Given the description of an element on the screen output the (x, y) to click on. 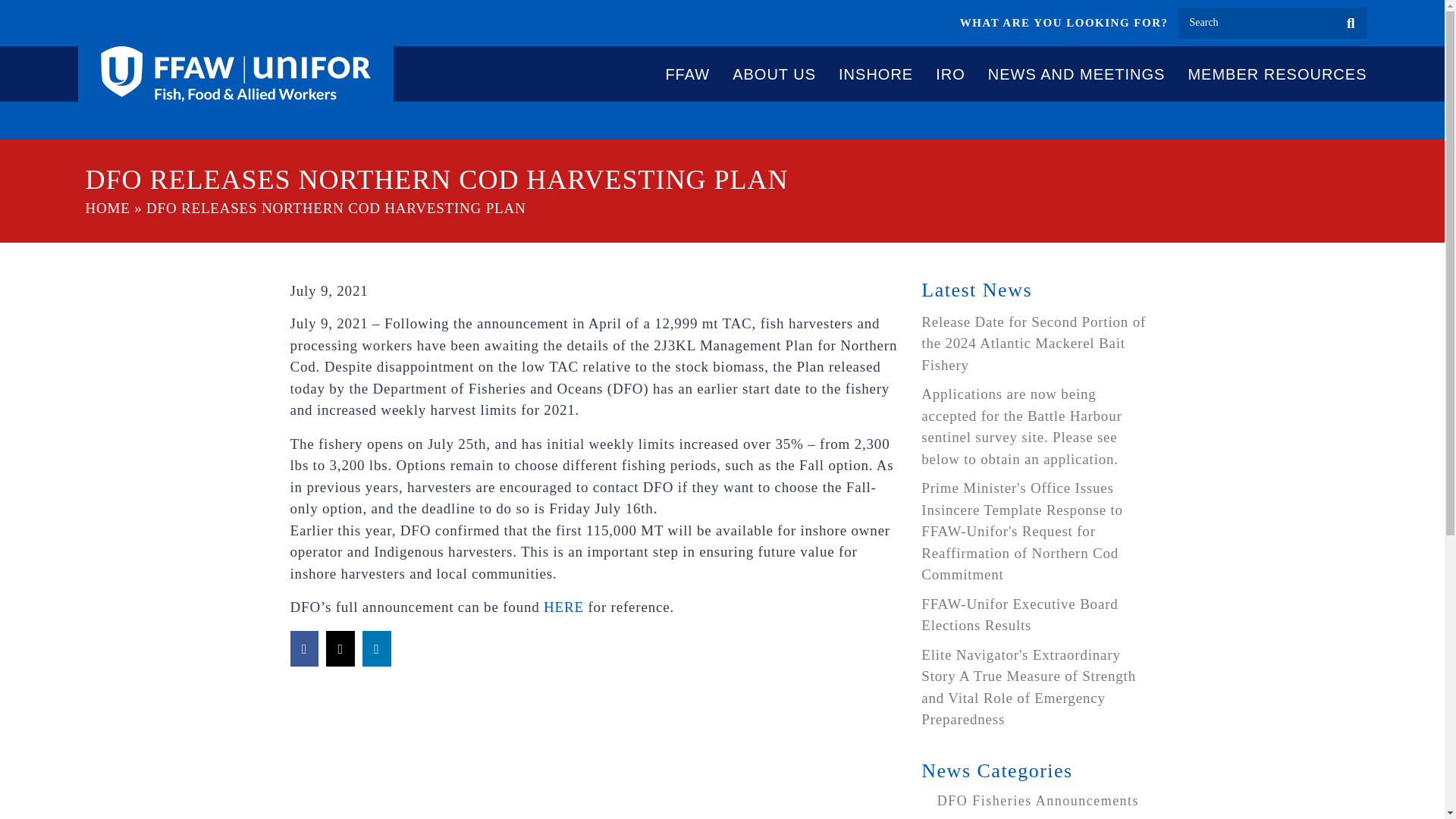
IRO (950, 73)
FFAW (687, 73)
INSHORE (875, 73)
ABOUT US (773, 73)
